Given the description of an element on the screen output the (x, y) to click on. 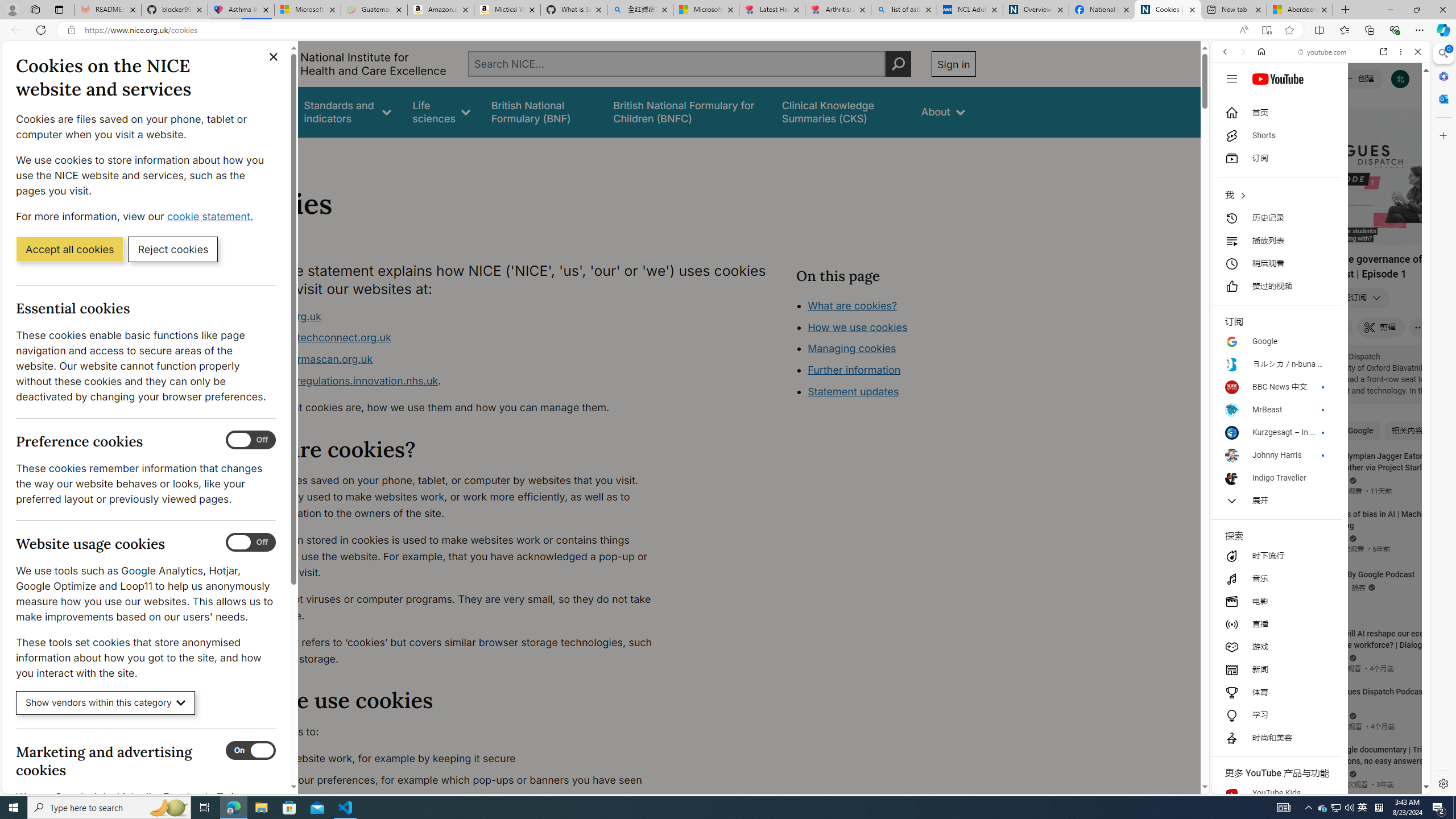
Shorts (1275, 135)
